Given the description of an element on the screen output the (x, y) to click on. 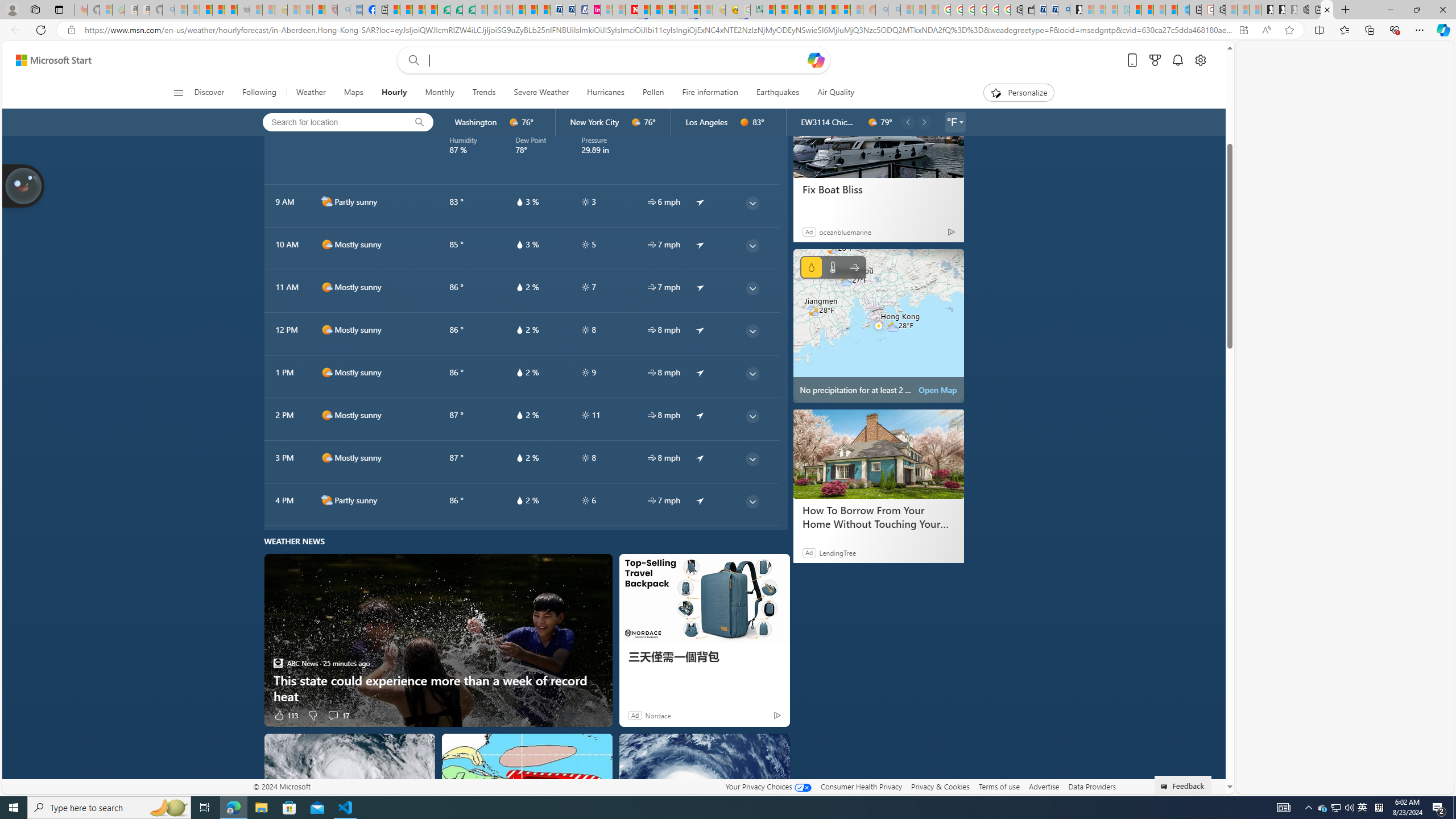
hourlyTable/wind (651, 500)
hourlyTable/drop (519, 500)
Fire information (709, 92)
static map image of vector map (878, 325)
